Given the description of an element on the screen output the (x, y) to click on. 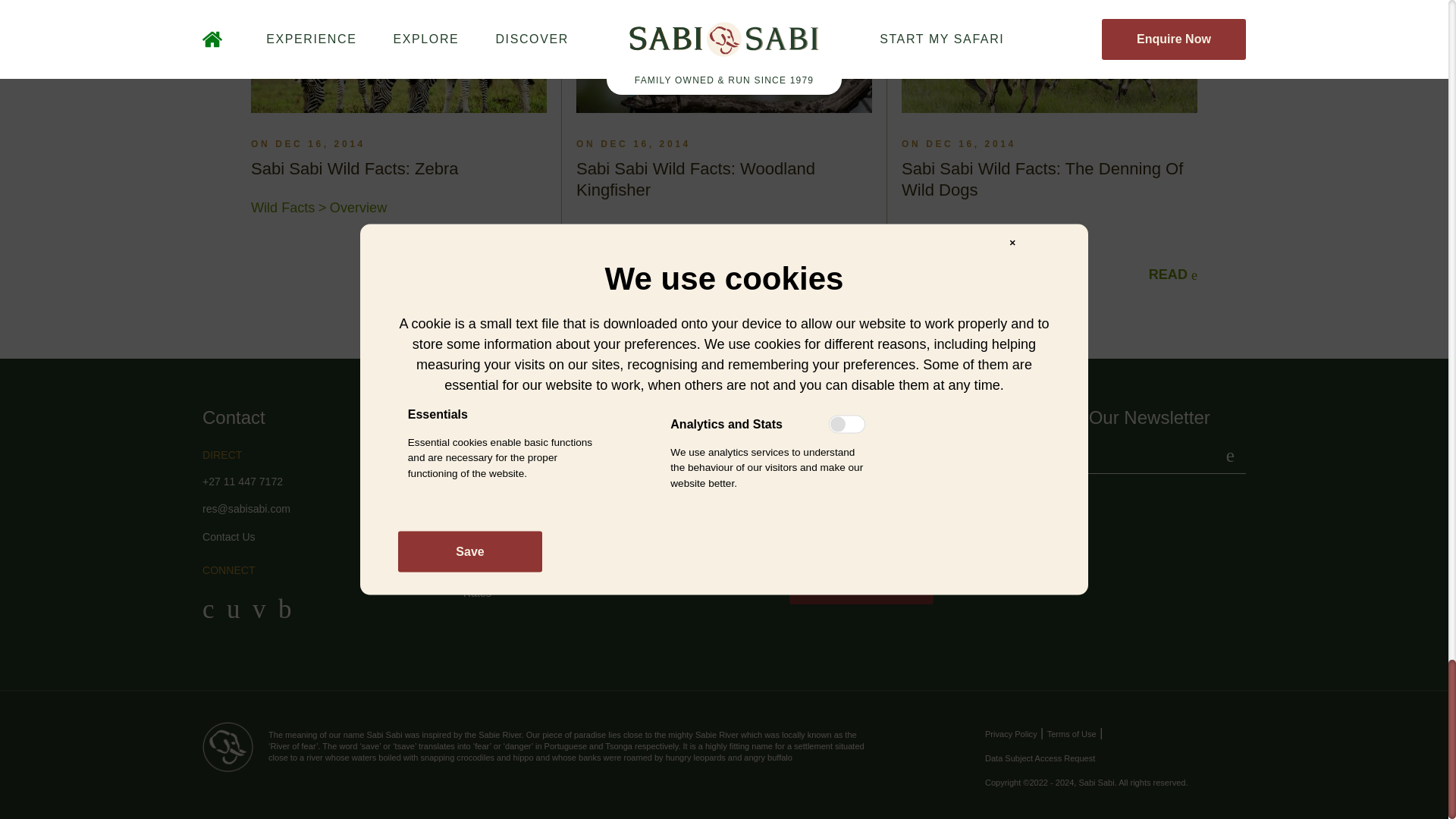
Wild Dog 5 (1048, 56)
Woodland Kingfisher (724, 56)
Zebra 5 (398, 56)
